Given the description of an element on the screen output the (x, y) to click on. 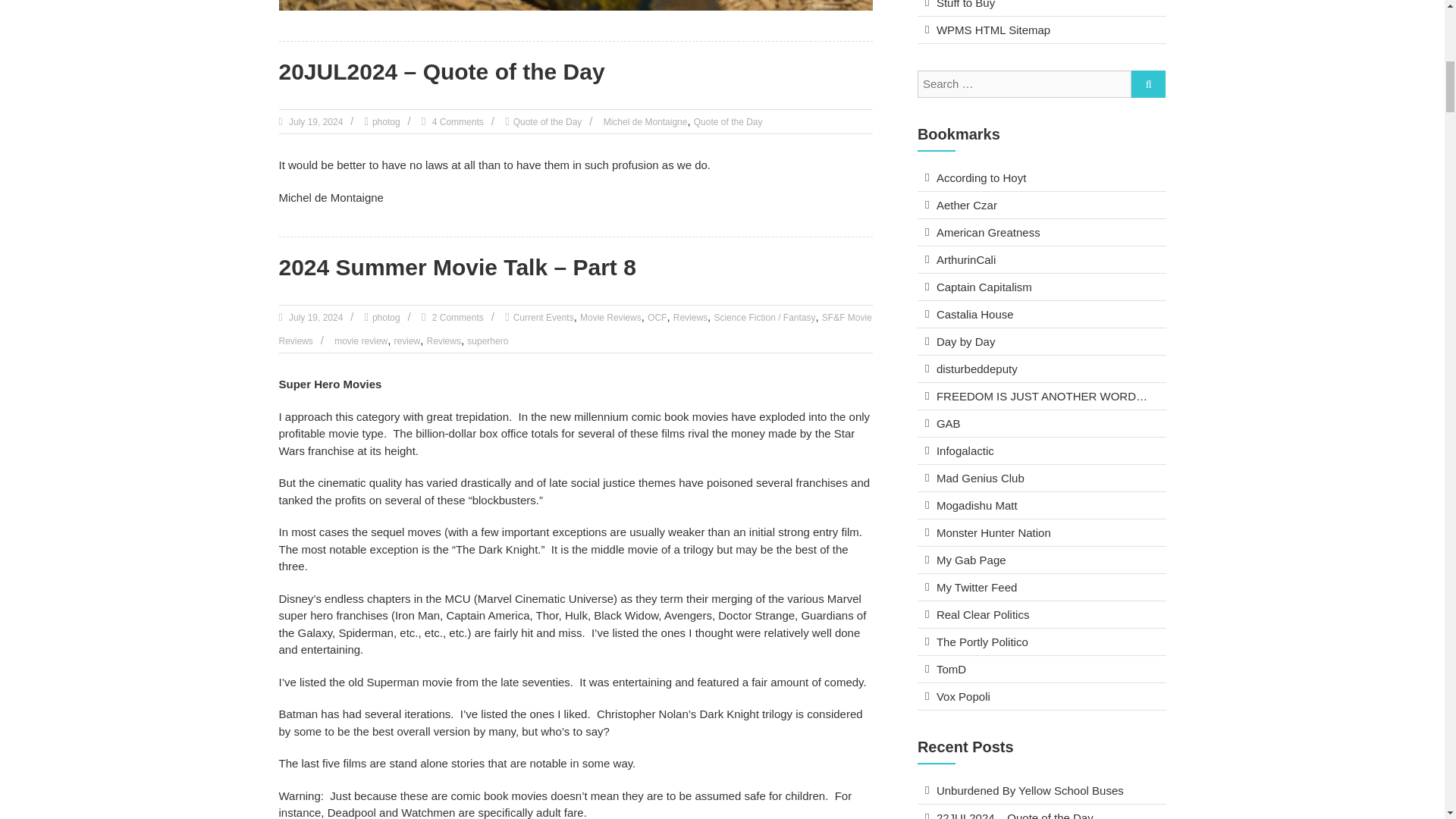
photog (386, 317)
9:00 pm (314, 122)
Quote of the Day (728, 122)
4 Comments (456, 122)
Quote of the Day (547, 122)
July 19, 2024 (314, 317)
photog (386, 122)
5:00 am (314, 317)
photog (386, 317)
July 19, 2024 (314, 122)
photog (386, 122)
Michel de Montaigne (645, 122)
